Given the description of an element on the screen output the (x, y) to click on. 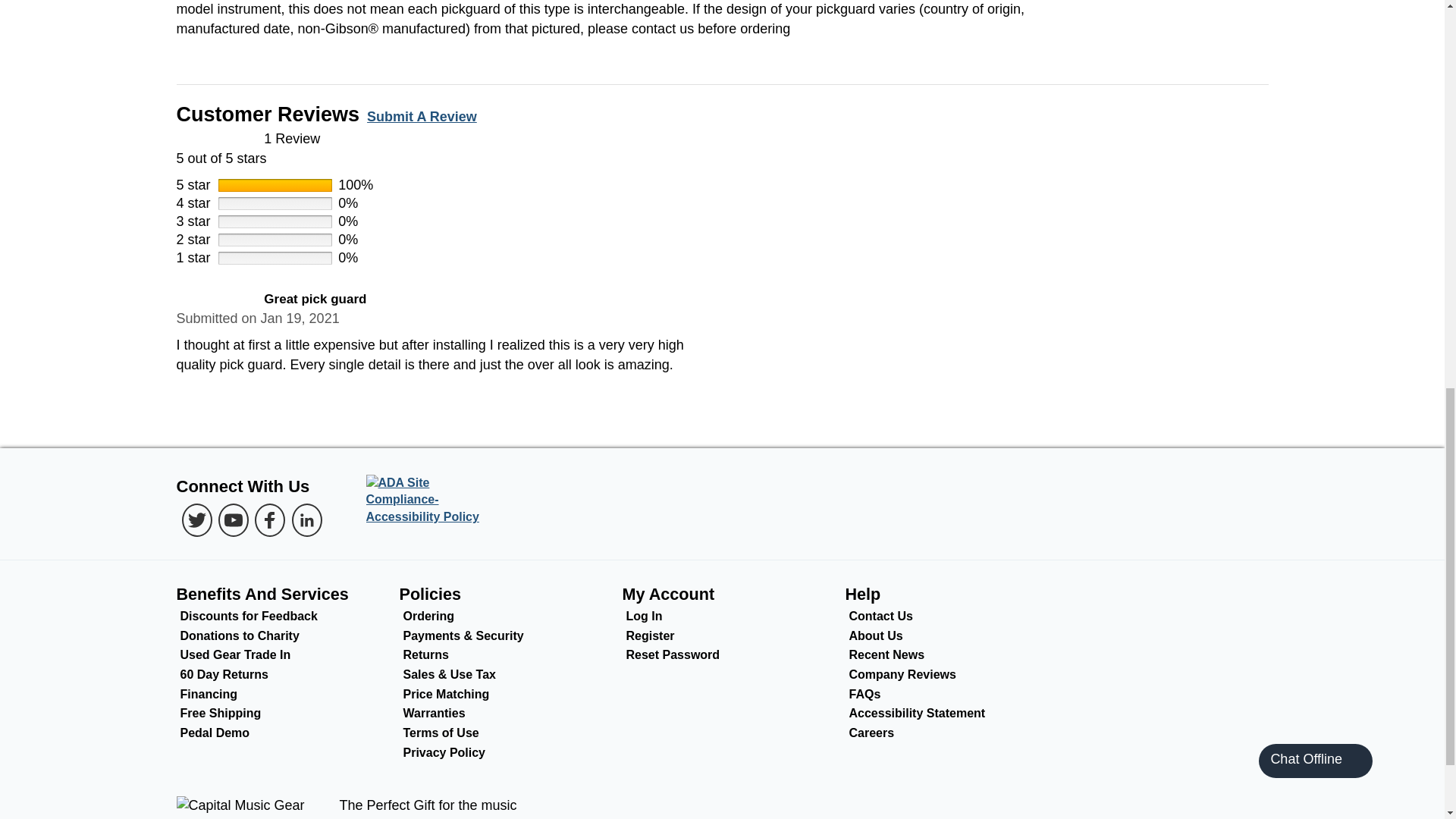
Our Linkedin Page - Opens in new Tab (306, 520)
Our Twitter Page - Opens in new Tab (197, 520)
5 out of 5 (216, 299)
5 out of 5 (722, 148)
Our Youtube Page - Opens in new Tab (233, 520)
Our Facebook Page - Opens in new Tab (269, 520)
ADA Site Compliance-Accessibility Policy - Opens in new tab (427, 501)
